Given the description of an element on the screen output the (x, y) to click on. 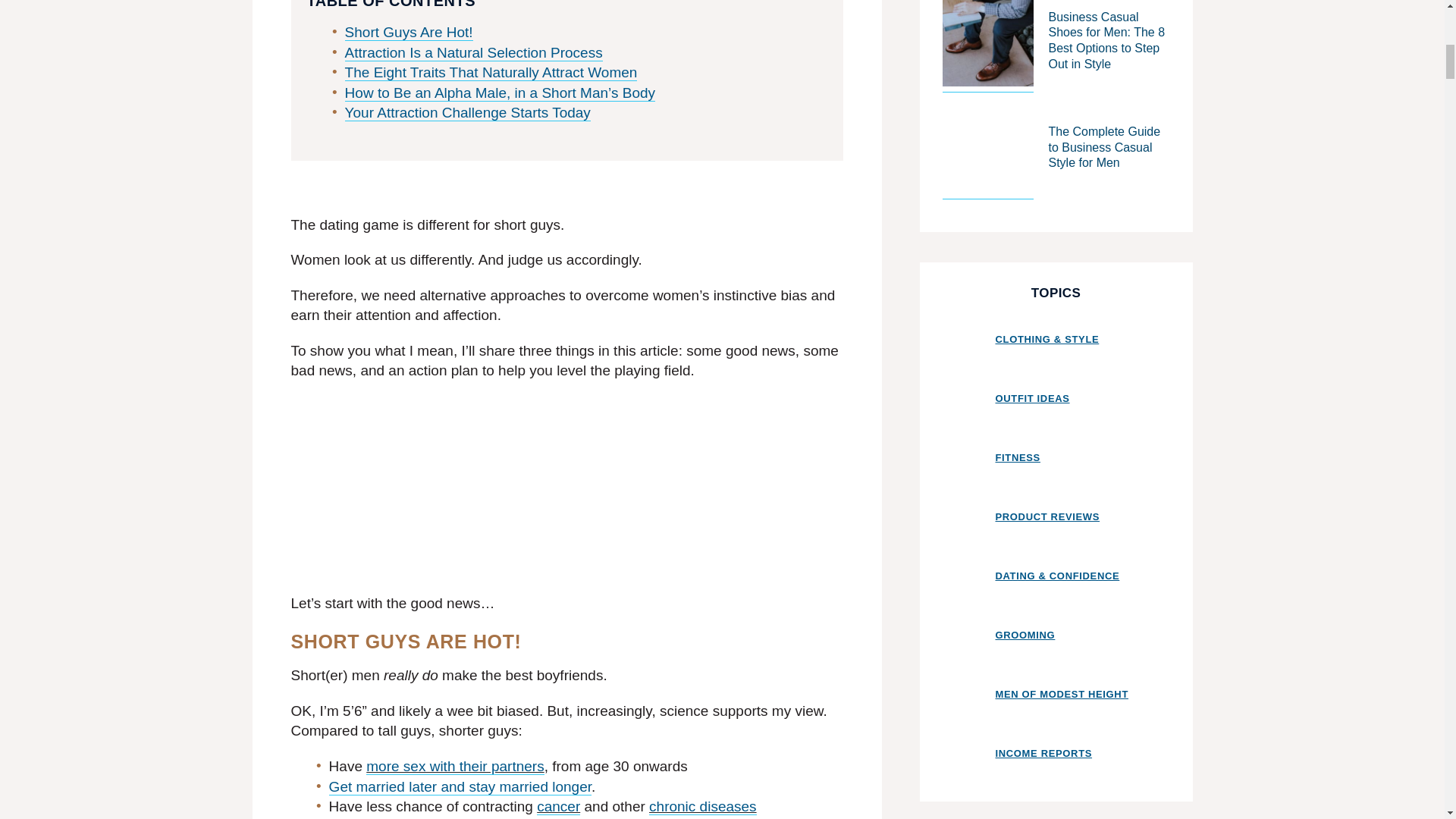
The Eight Traits That Naturally Attract Women (491, 72)
Your Attraction Challenge Starts Today (468, 112)
Get married later and stay married longer (460, 786)
Attraction Is a Natural Selection Process (473, 53)
Short Guys Are Hot! (409, 32)
more sex with their partners (454, 766)
cancer (558, 806)
chronic diseases (703, 806)
